Given the description of an element on the screen output the (x, y) to click on. 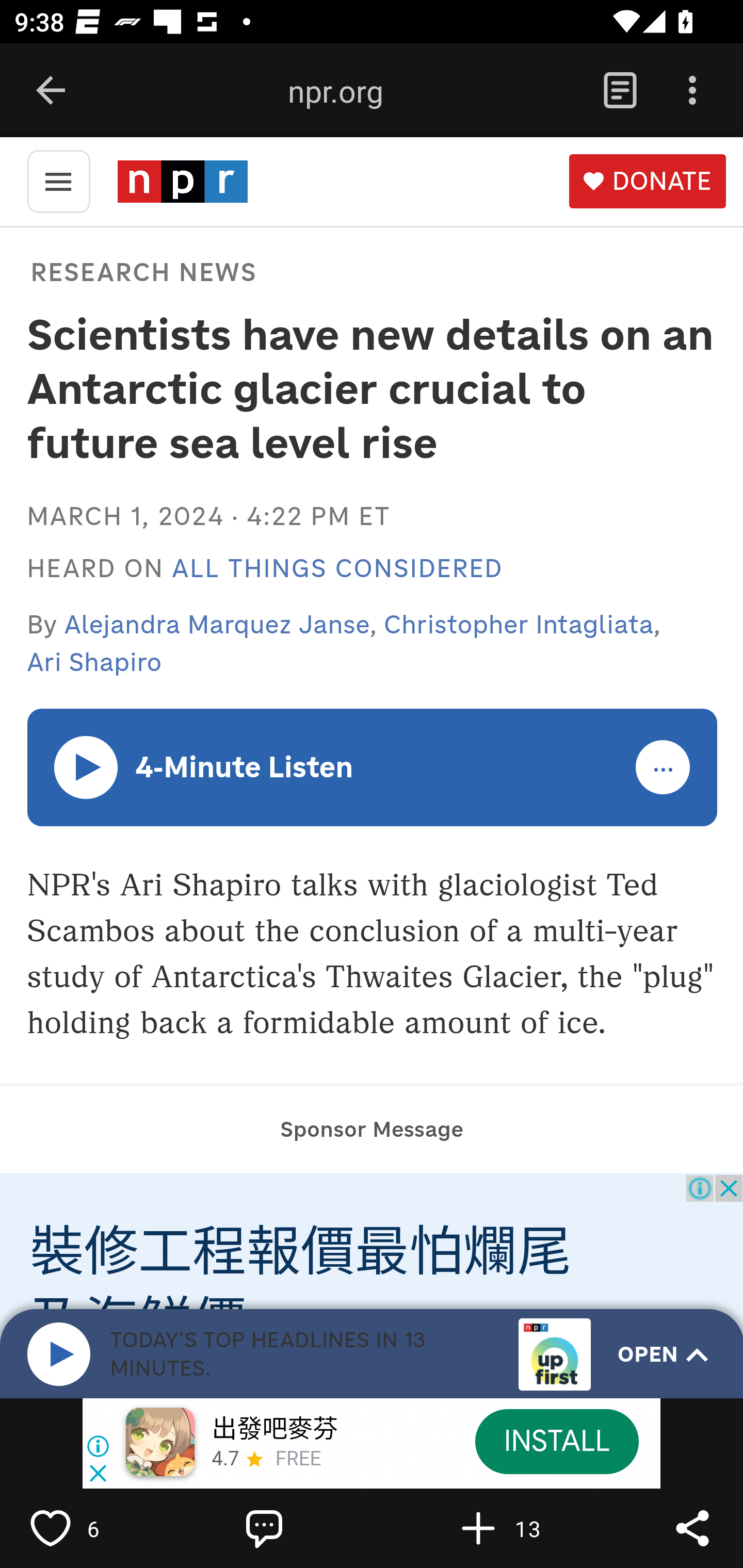
Back (50, 90)
Reader View (619, 90)
Options (692, 90)
Open Navigation Menu (58, 180)
DONATE (646, 181)
NPR logo (181, 180)
RESEARCH NEWS RESEARCH NEWS RESEARCH NEWS (141, 271)
MARCH 1, 2024 · 4:22 PM ET (208, 515)
ALL THINGS CONSIDERED (337, 568)
Alejandra Marquez Janse (217, 623)
Christopher Intagliata (518, 623)
Ari Shapiro (93, 662)
LISTEN· 4:24 (86, 766)
Toggle more options (663, 768)
INSTALL (556, 1441)
出發吧麥芬 (274, 1429)
4.7 (224, 1459)
FREE (298, 1459)
Like 6 (93, 1528)
Write a comment… (307, 1528)
Flip into Magazine 13 (521, 1528)
Share (692, 1528)
